Given the description of an element on the screen output the (x, y) to click on. 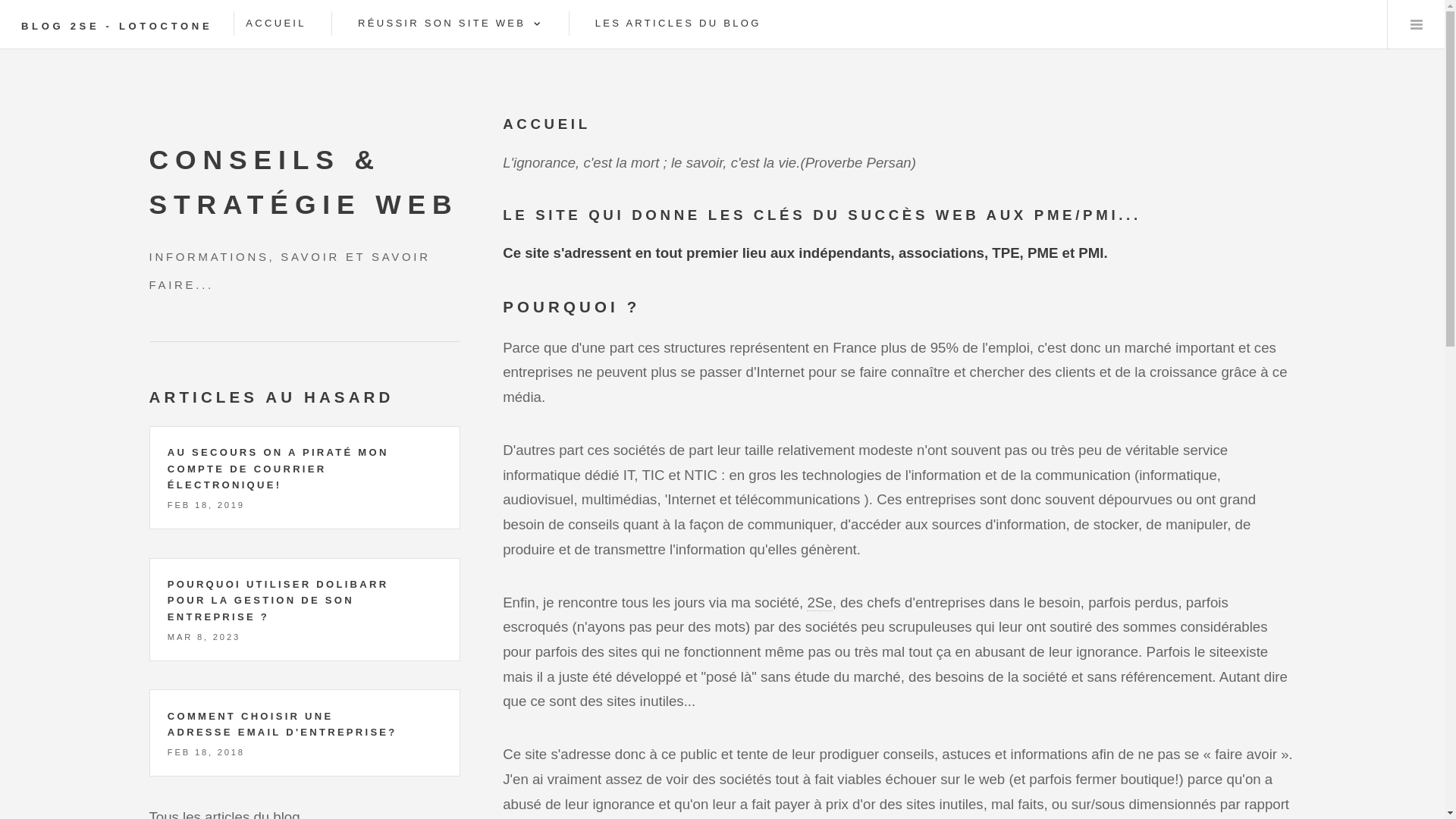
2Se Element type: text (818, 602)
Menu Element type: text (1415, 24)
ACCUEIL Element type: text (275, 23)
BLOG 2SE - LOTOCTONE Element type: text (116, 25)
COMMENT CHOISIR UNE ADRESSE EMAIL D'ENTREPRISE? Element type: text (282, 724)
LES ARTICLES DU BLOG Element type: text (677, 23)
